Given the description of an element on the screen output the (x, y) to click on. 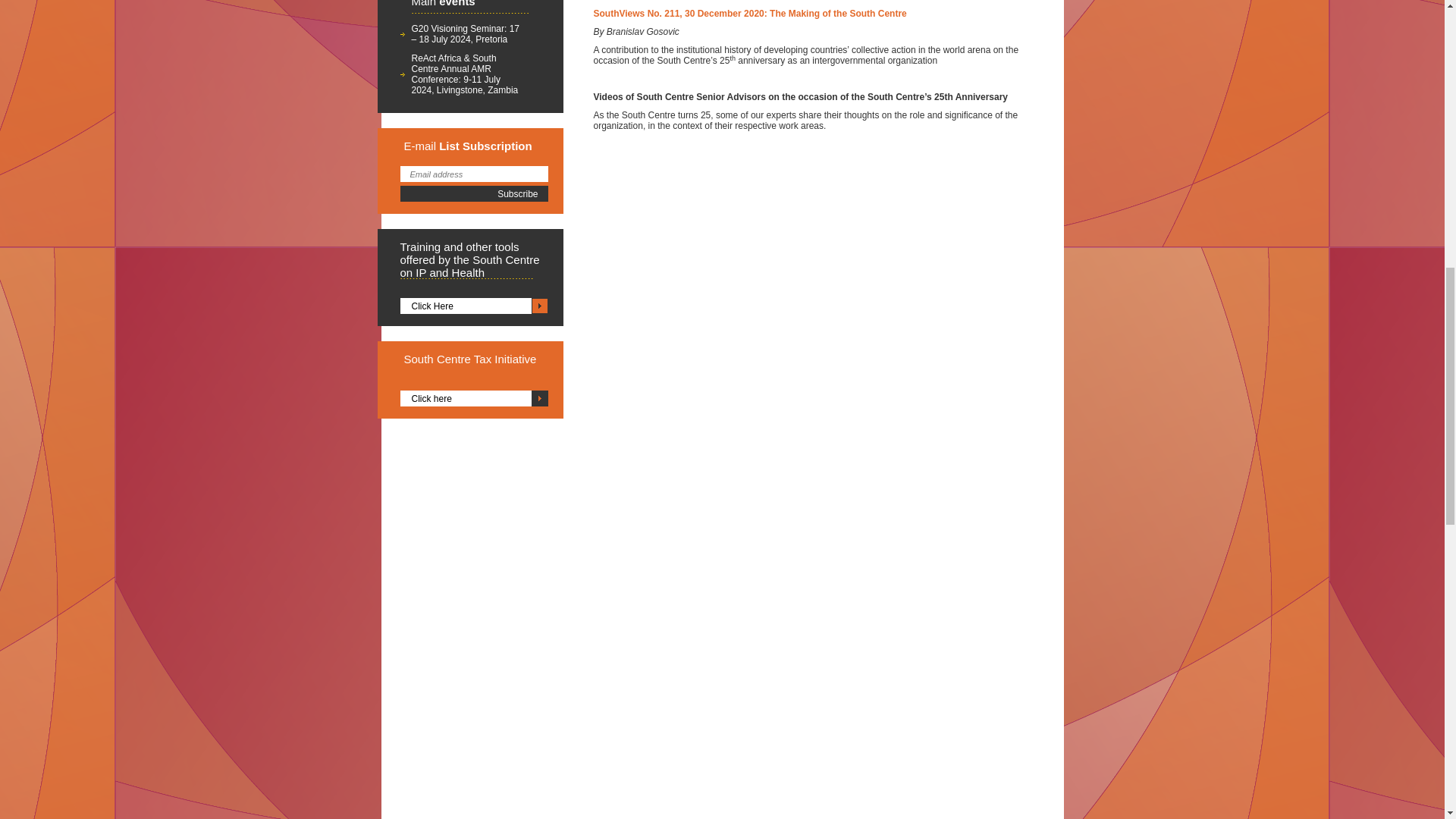
Subscribe (474, 193)
